Given the description of an element on the screen output the (x, y) to click on. 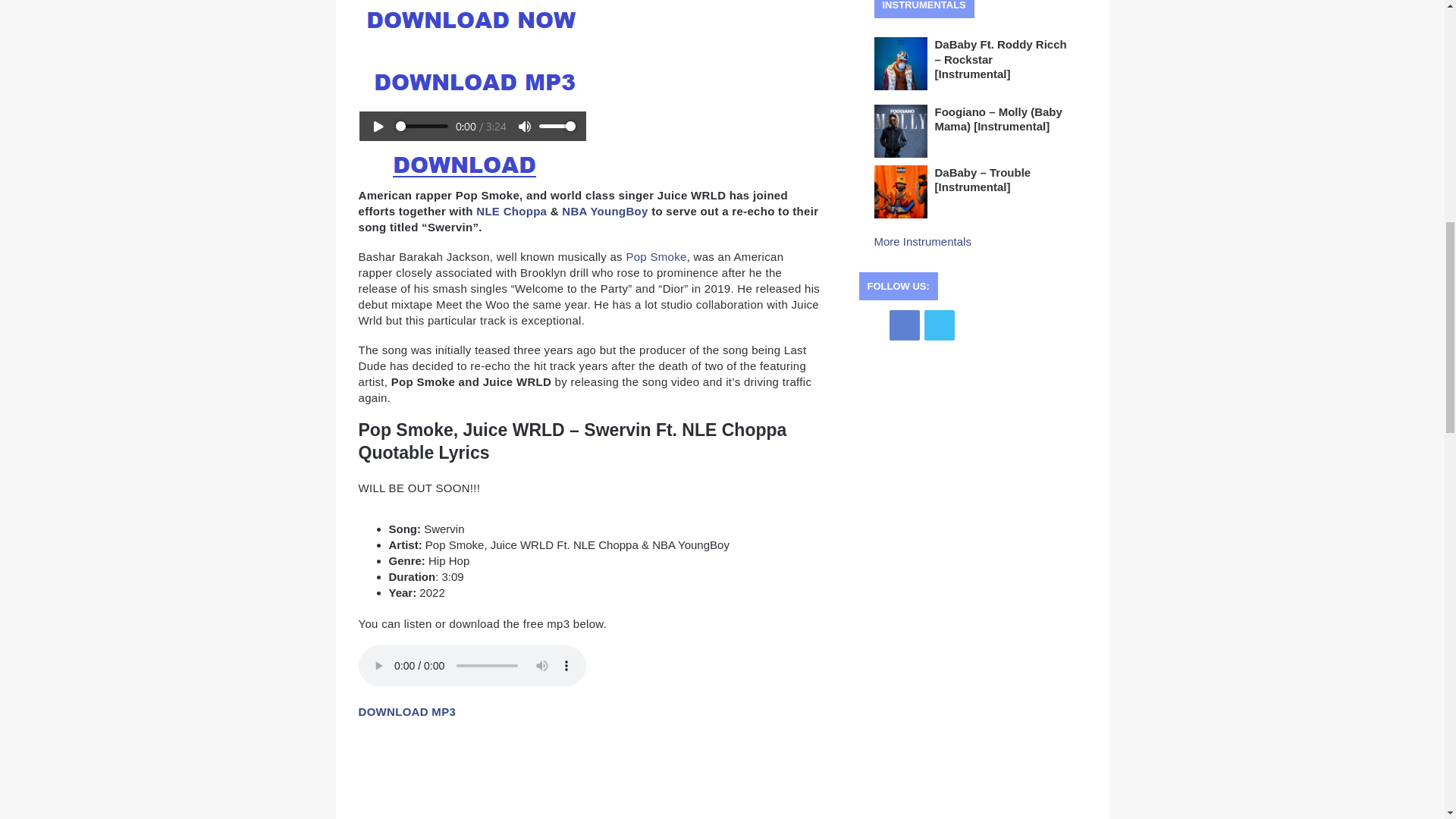
Pop Smoke (655, 256)
NBA YoungBoy (604, 210)
DOWNLOAD MP3 (406, 711)
NLE Choppa (511, 210)
